Given the description of an element on the screen output the (x, y) to click on. 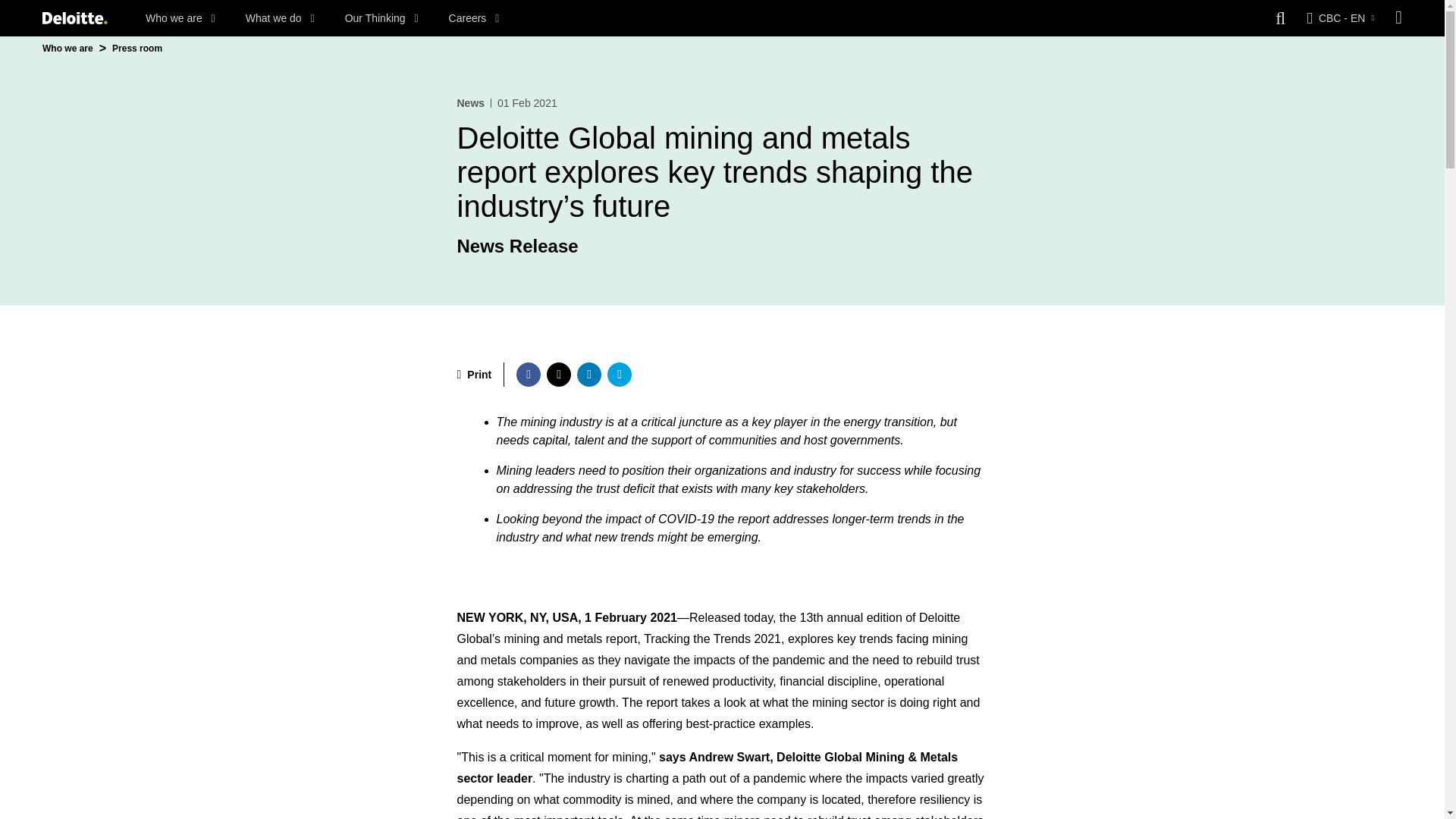
Careers (473, 18)
share via email (619, 374)
Our Thinking (382, 18)
Print (474, 374)
Deloitte (74, 18)
share via linkedin (588, 374)
share via facebook (528, 374)
Who we are (180, 18)
share via twitter (558, 374)
What we do (280, 18)
